Given the description of an element on the screen output the (x, y) to click on. 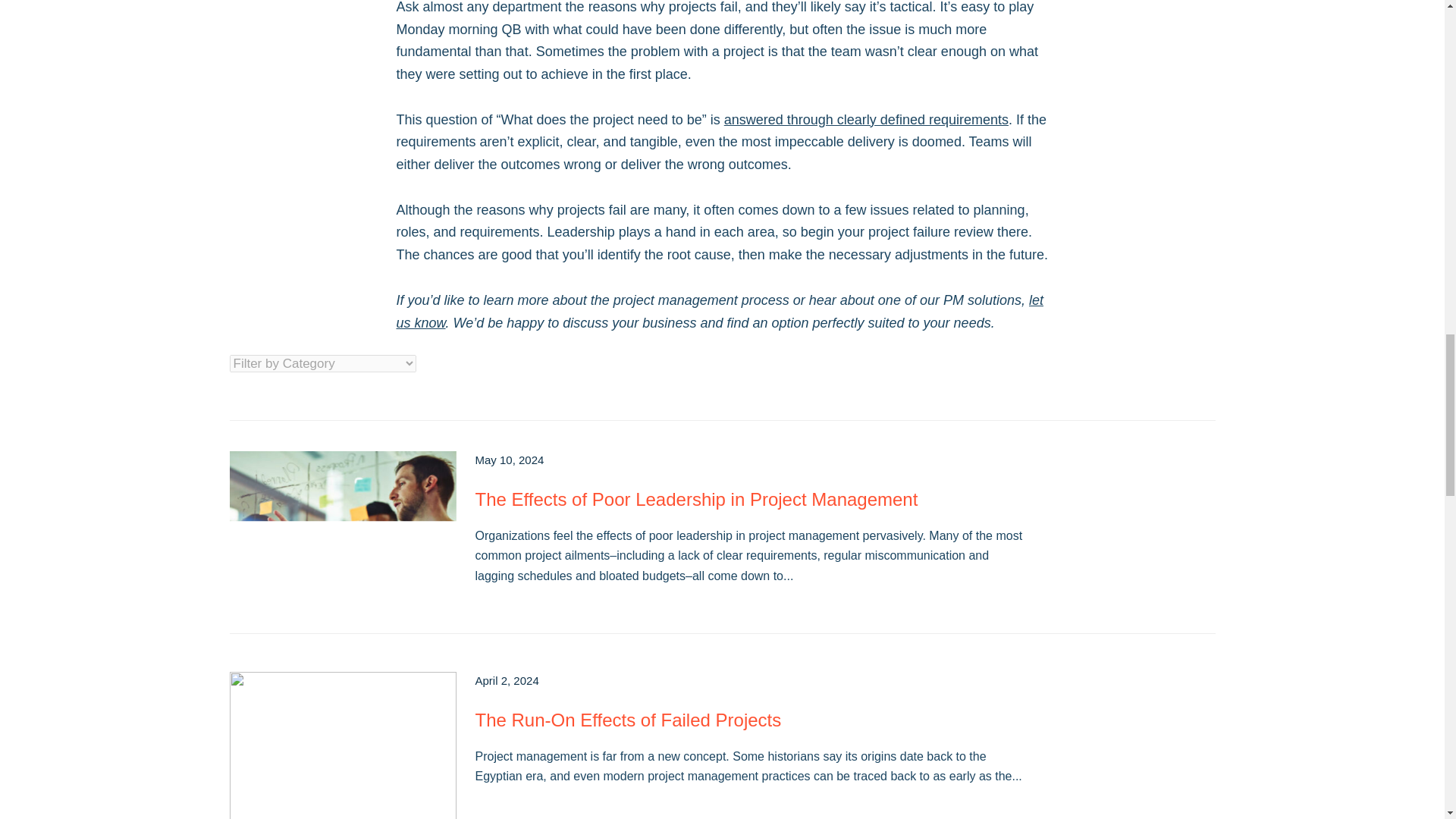
The Effects of Poor Leadership in Project Management (341, 524)
The Run-On Effects of Failed Projects (627, 720)
The Effects of Poor Leadership in Project Management (695, 498)
The Run-On Effects of Failed Projects (341, 745)
